Given the description of an element on the screen output the (x, y) to click on. 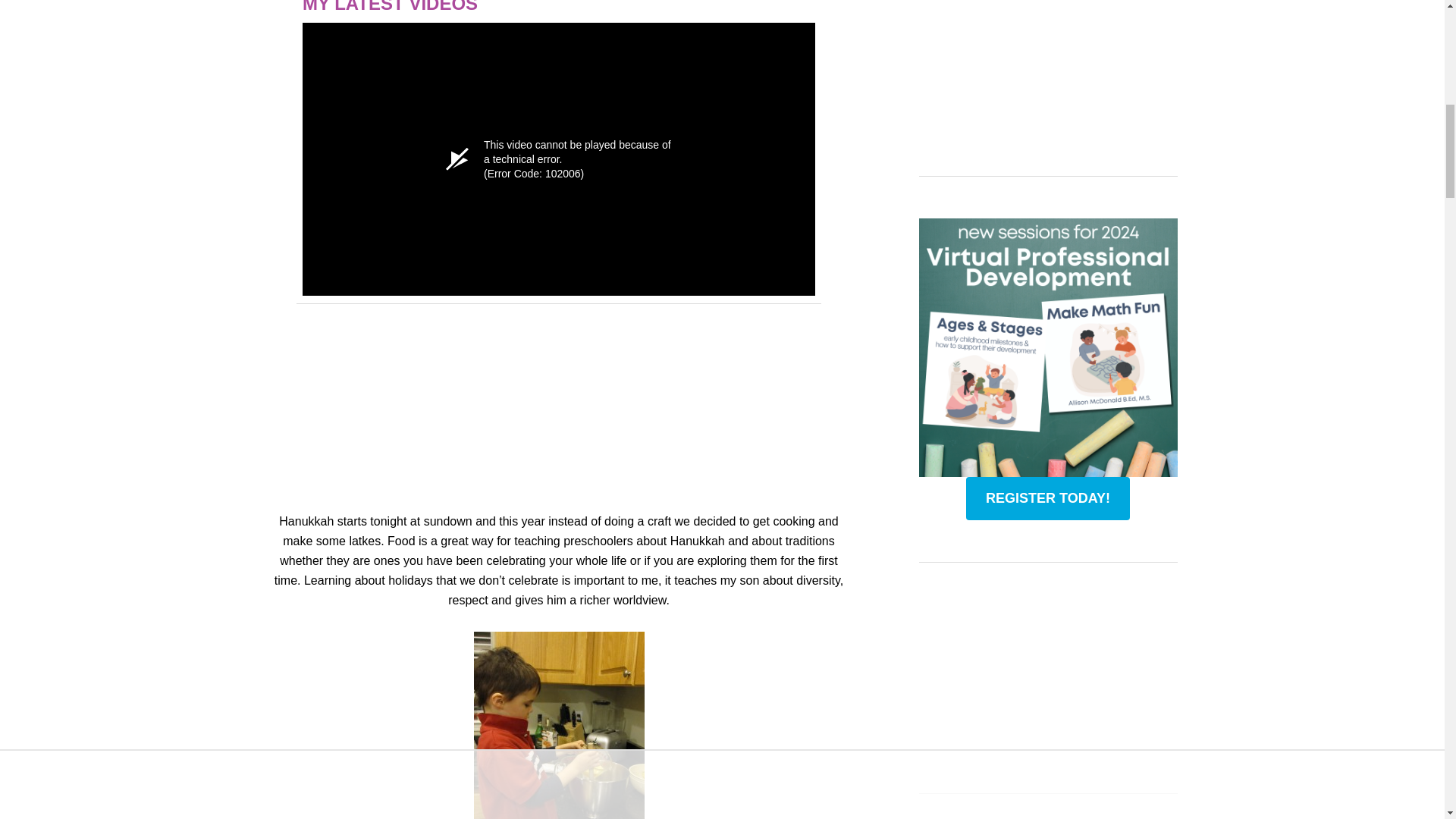
Cooking Latkes  (558, 725)
